Given the description of an element on the screen output the (x, y) to click on. 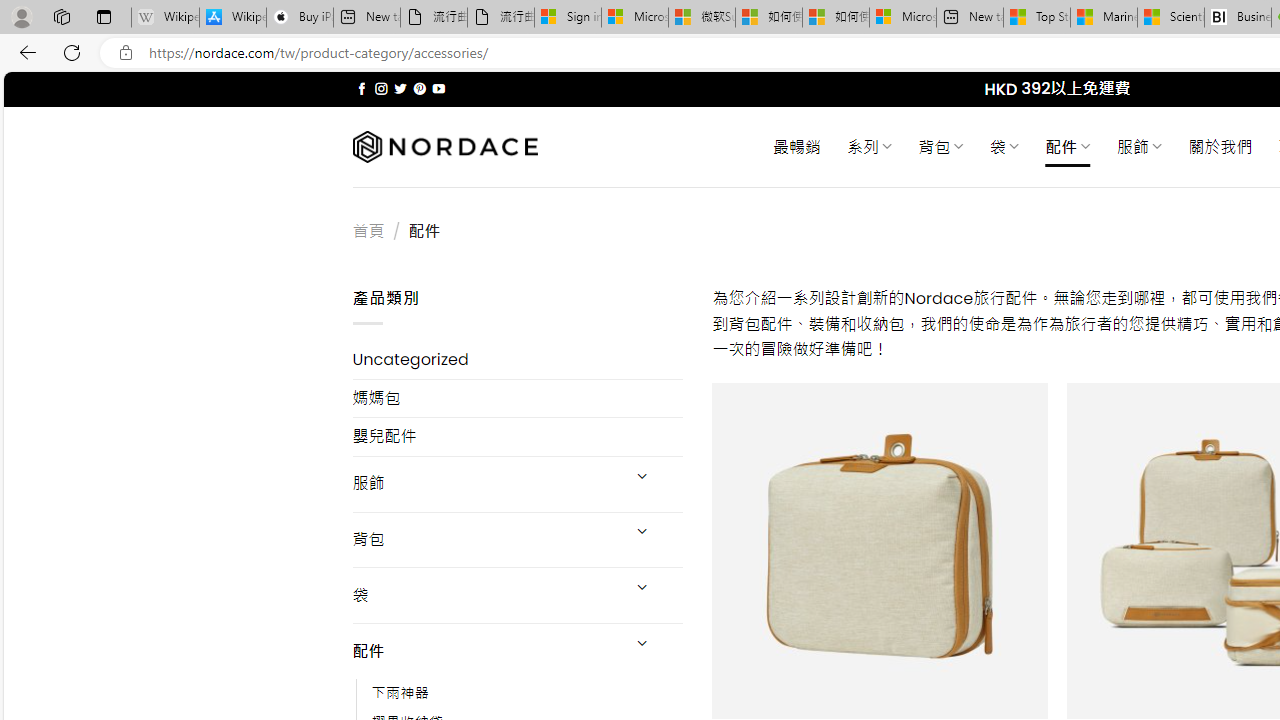
Microsoft Services Agreement (634, 17)
Microsoft account | Account Checkup (902, 17)
Nordace (444, 147)
Marine life - MSN (1103, 17)
